Given the description of an element on the screen output the (x, y) to click on. 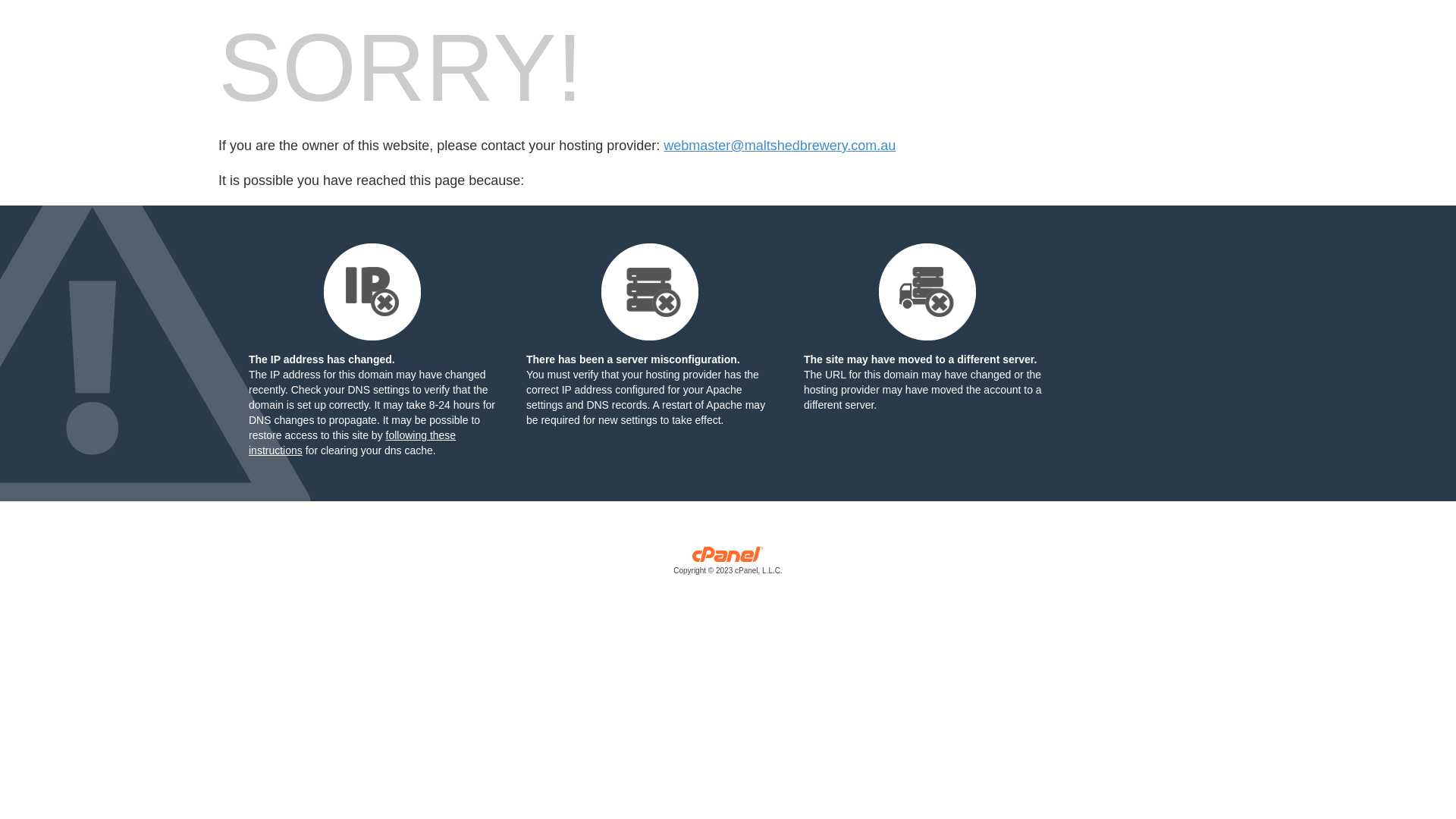
following these instructions Element type: text (351, 442)
webmaster@maltshedbrewery.com.au Element type: text (779, 145)
